Given the description of an element on the screen output the (x, y) to click on. 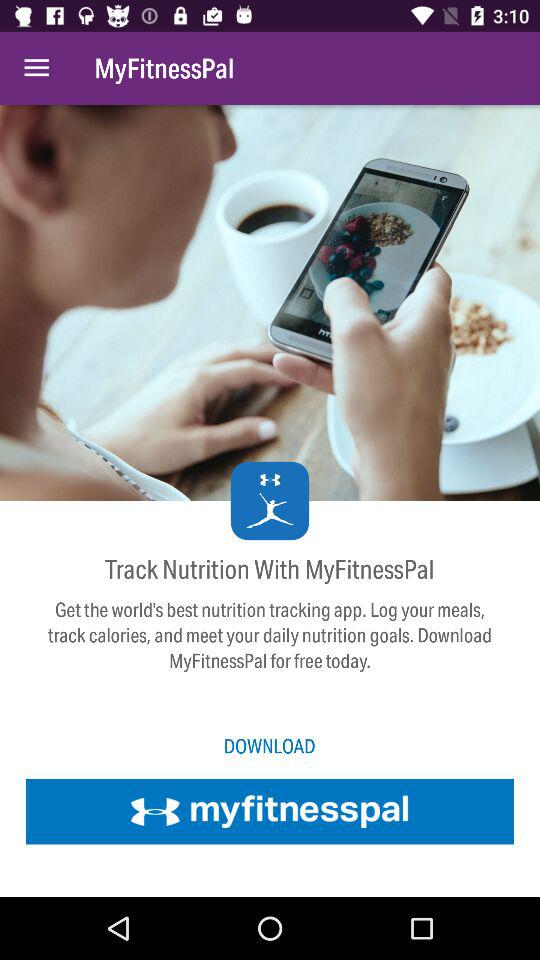
turn off the icon next to the myfitnesspal (36, 68)
